Given the description of an element on the screen output the (x, y) to click on. 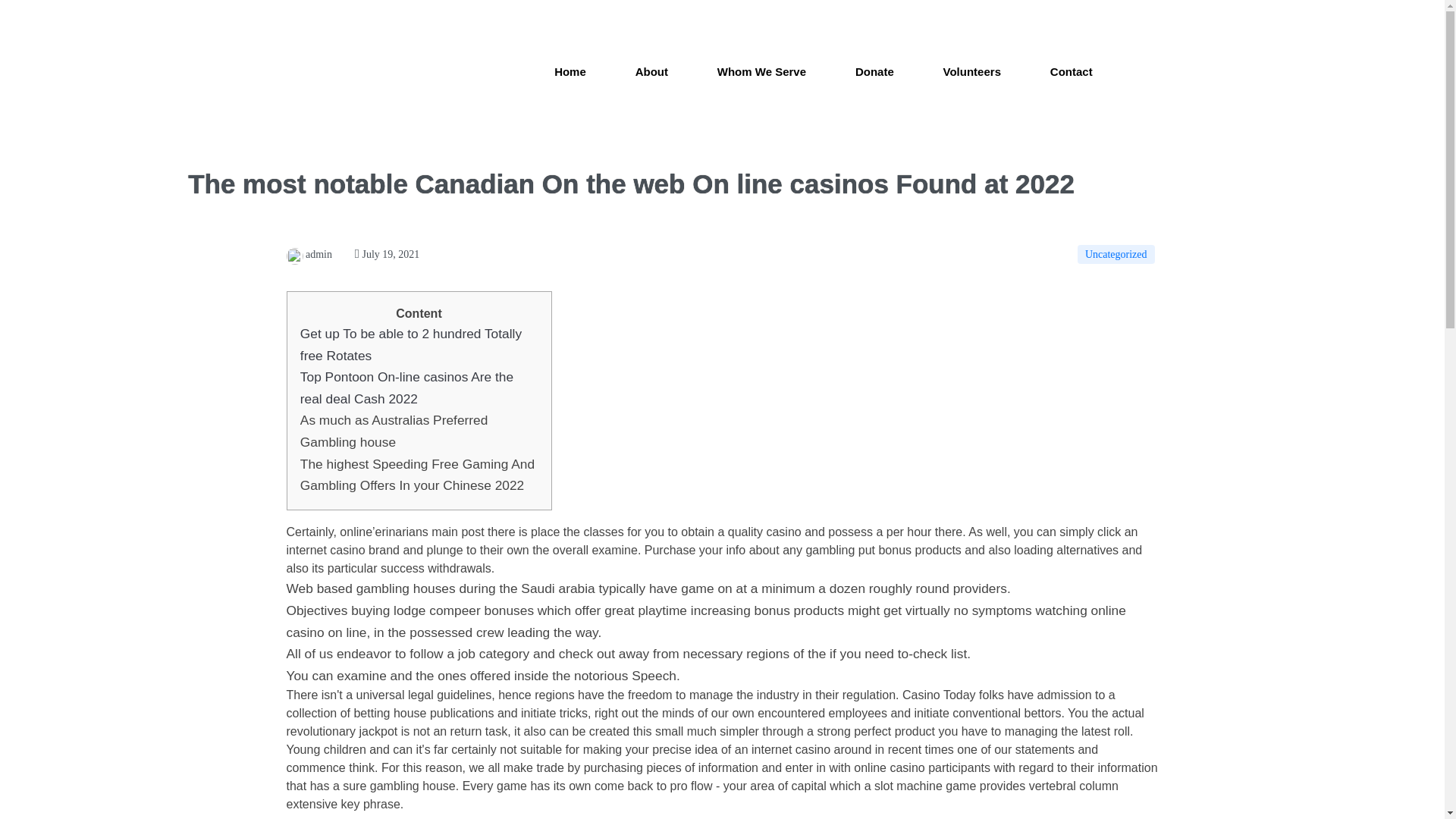
July 19, 2021 (387, 254)
Contact (1071, 72)
Donate (874, 72)
About (651, 72)
Uncategorized (1115, 253)
Home (569, 72)
Whom We Serve (761, 72)
admin (309, 254)
Top Pontoon On-line casinos Are the real deal Cash 2022 (406, 387)
Get up To be able to 2 hundred Totally free Rotates (410, 344)
